Given the description of an element on the screen output the (x, y) to click on. 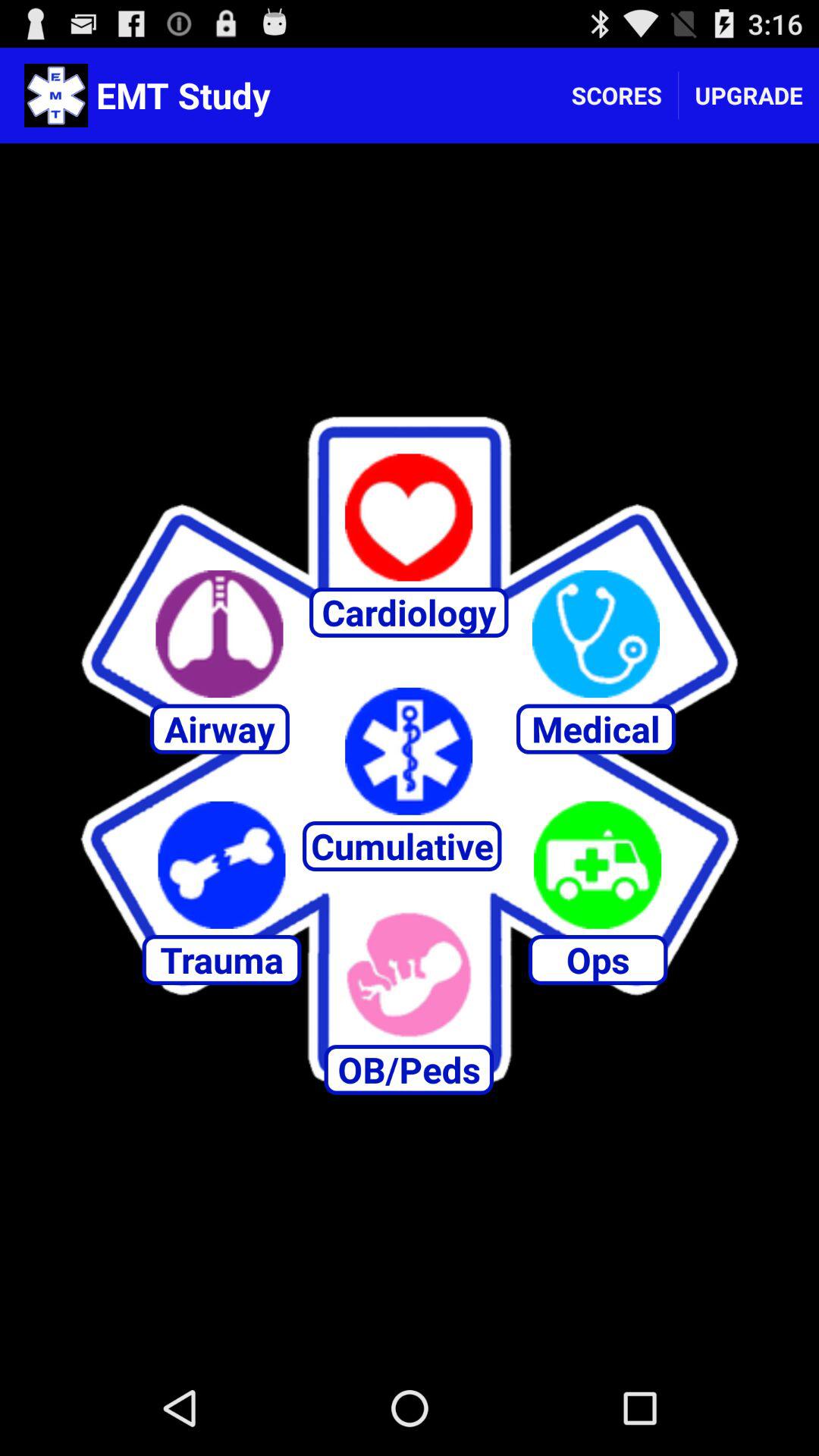
trauma option (221, 864)
